Given the description of an element on the screen output the (x, y) to click on. 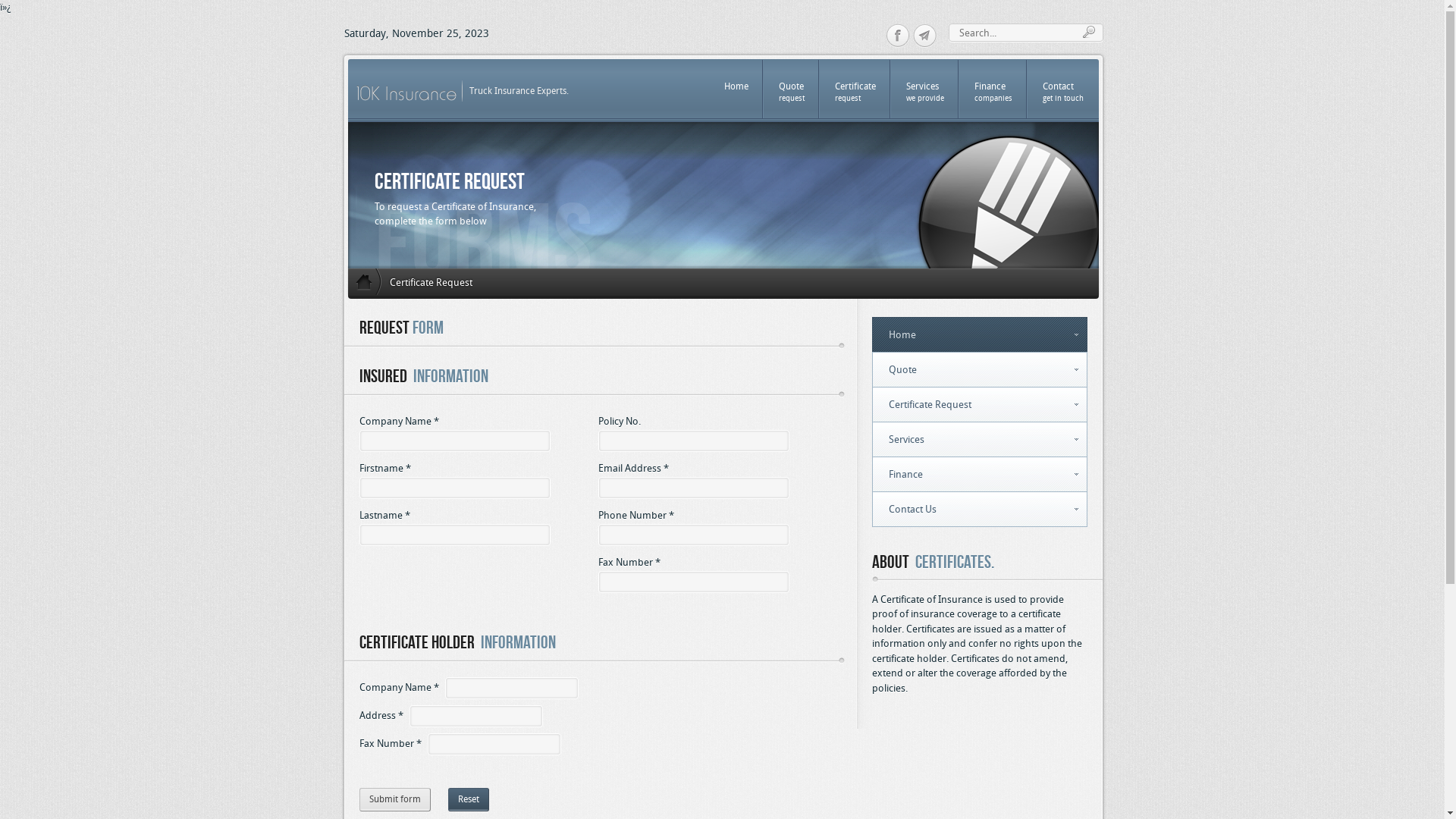
Home Element type: text (979, 333)
Contact
get in touch Element type: text (1062, 88)
Truck Insurance Experts. Element type: text (518, 64)
Services
we provide Element type: text (924, 88)
Finance Element type: text (979, 473)
Submit form Element type: text (394, 798)
Quote Element type: text (979, 368)
Quote
request Element type: text (790, 88)
Services Element type: text (979, 438)
Home Element type: text (735, 88)
Certificate
request Element type: text (854, 88)
Contact Us Element type: text (979, 508)
Certificate Request Element type: text (979, 403)
Finance
companies Element type: text (992, 88)
Reset Element type: text (467, 798)
